Given the description of an element on the screen output the (x, y) to click on. 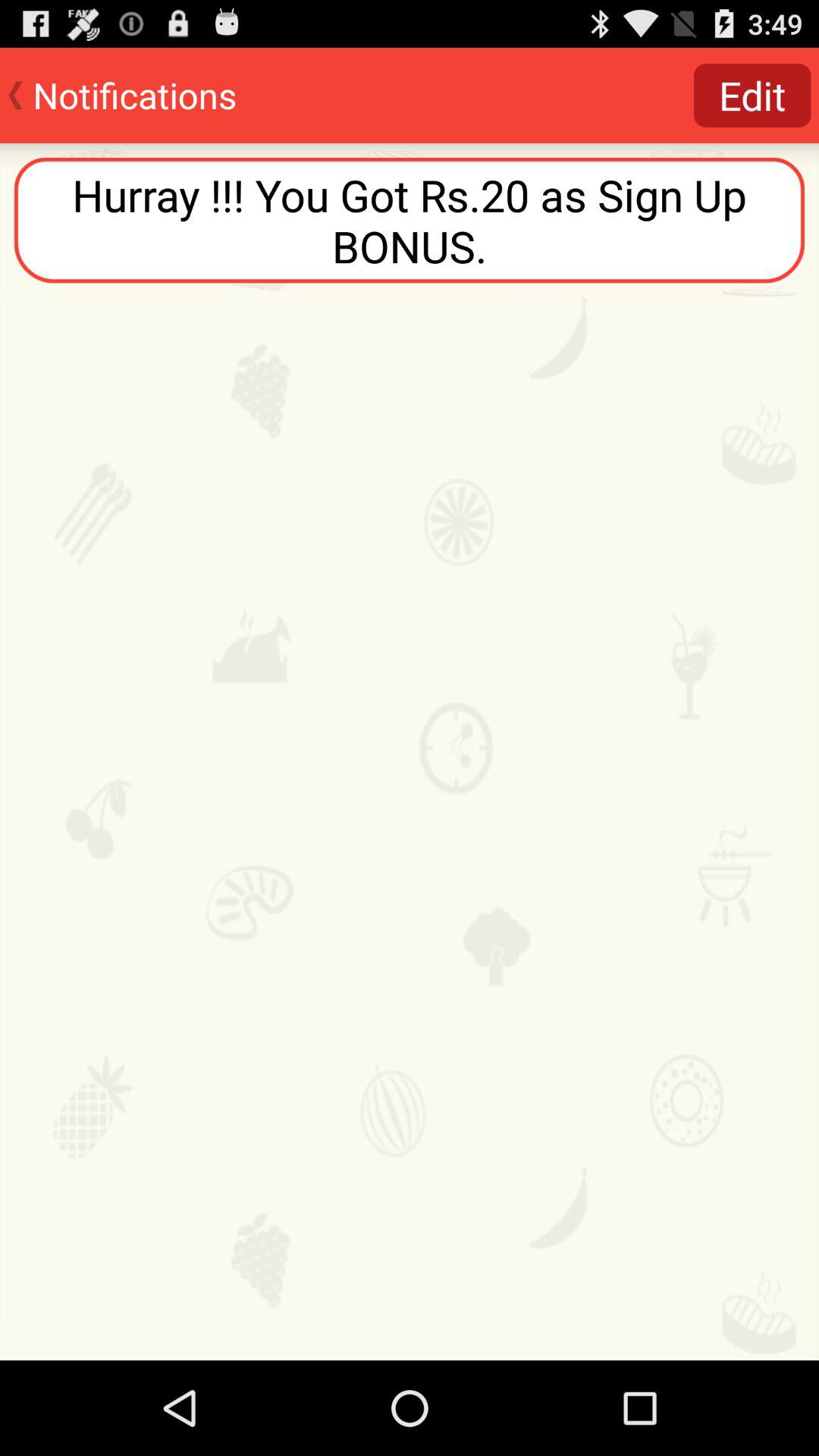
click hurray you got at the top (409, 220)
